Given the description of an element on the screen output the (x, y) to click on. 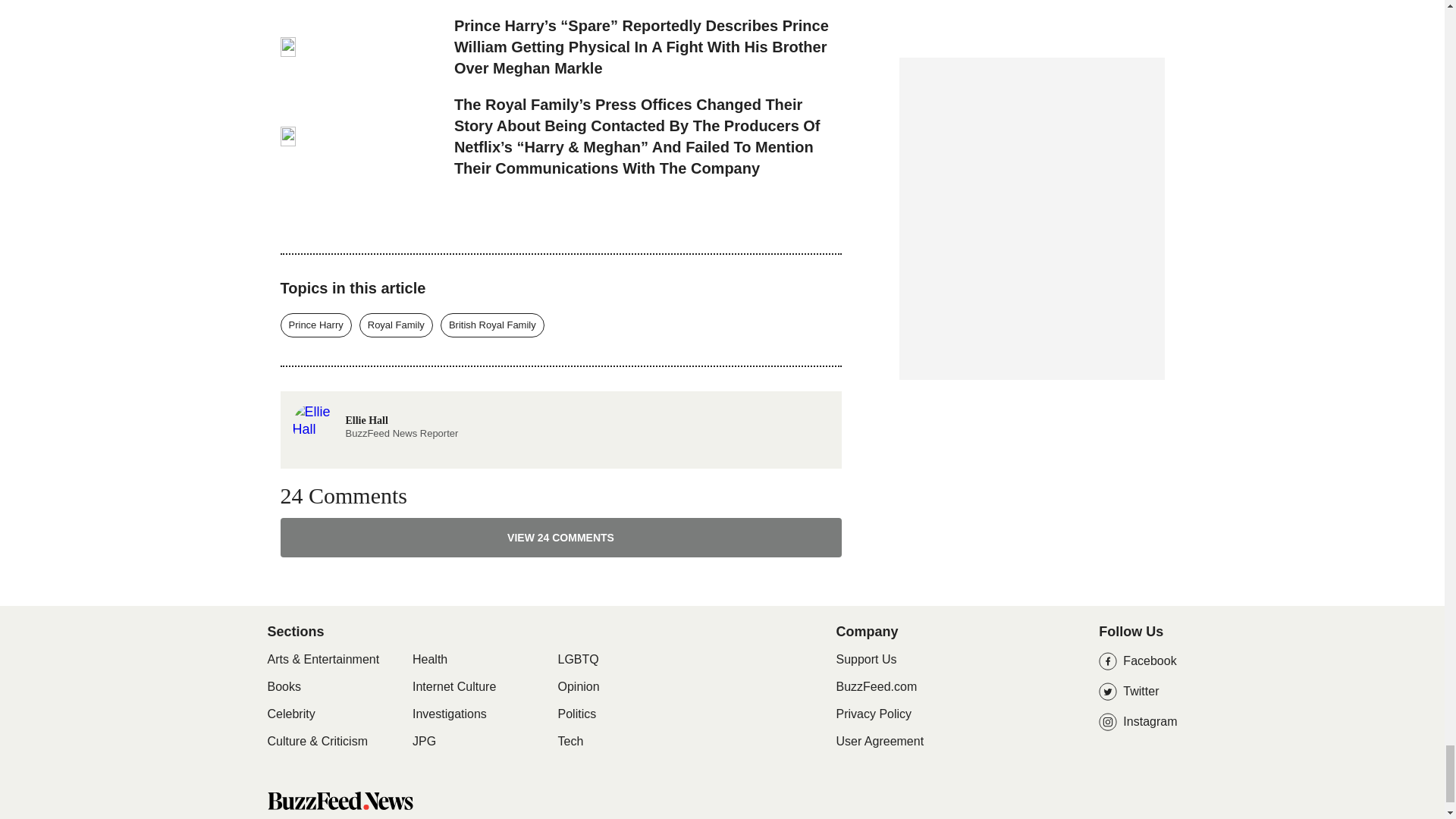
BuzzFeed News Home (339, 800)
